Given the description of an element on the screen output the (x, y) to click on. 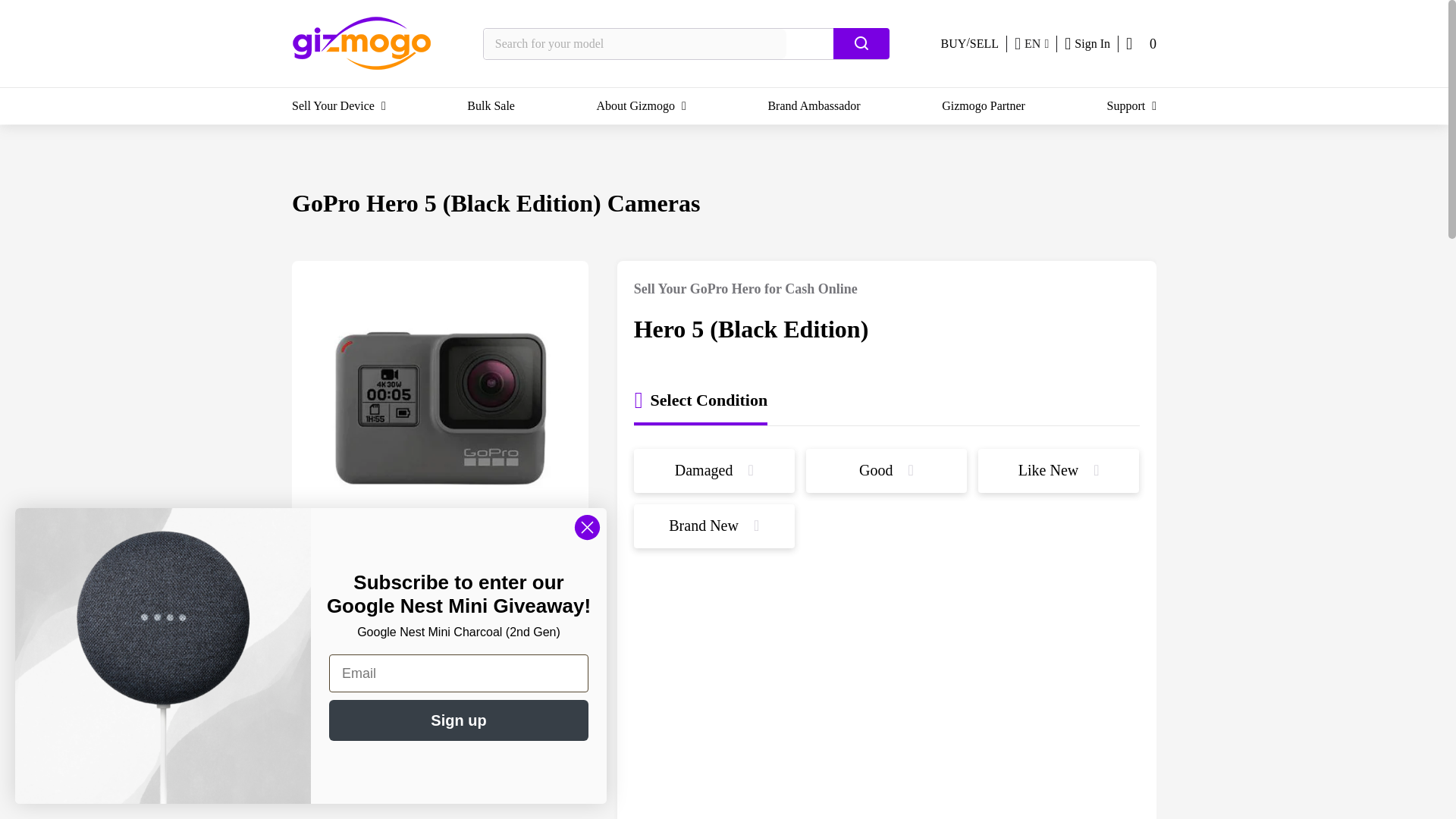
Brand Ambassador (813, 105)
Bulk Sale (491, 105)
Close dialog (586, 527)
Excellent (440, 585)
Gizmogo Partner (983, 105)
